Given the description of an element on the screen output the (x, y) to click on. 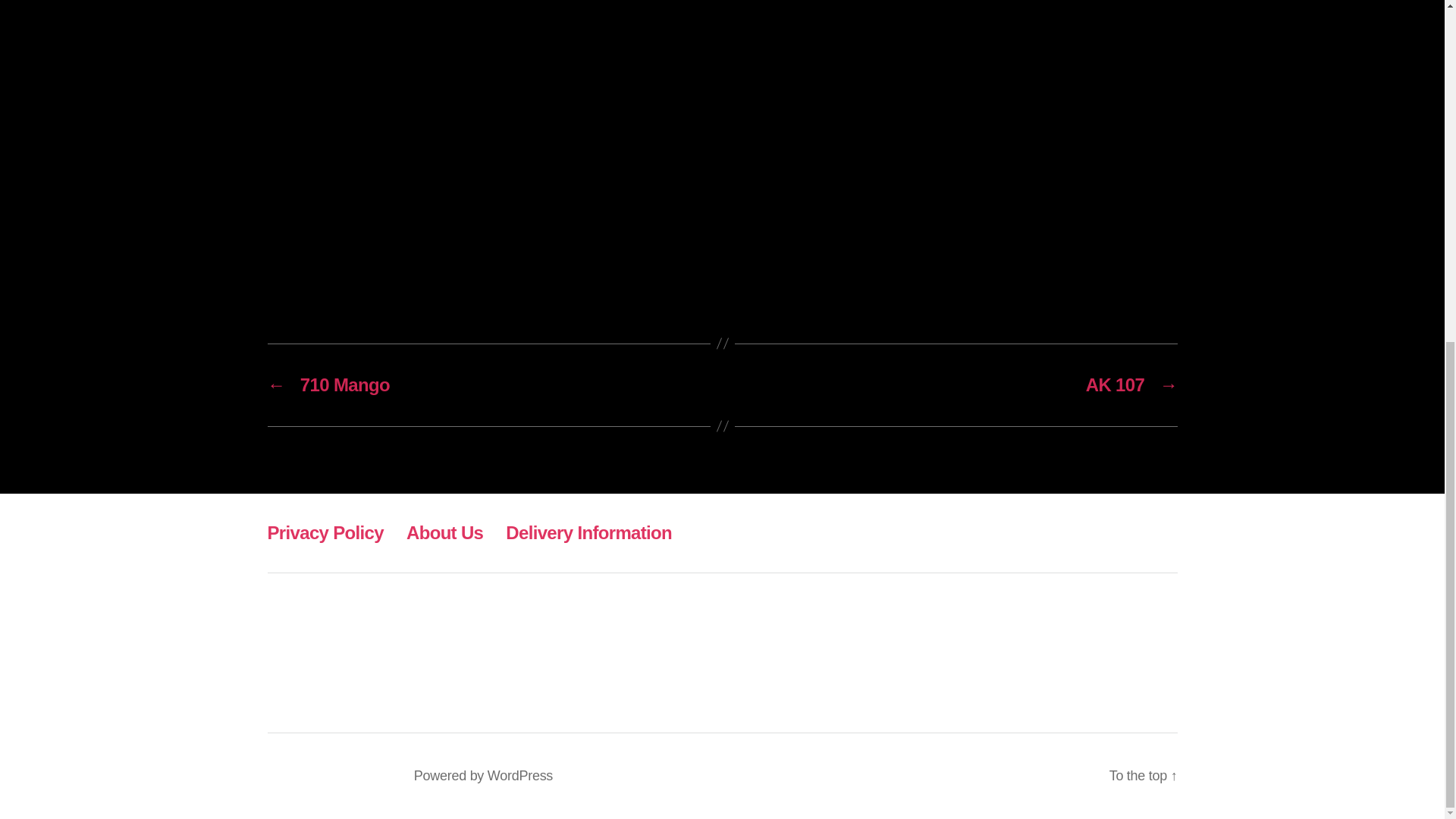
Privacy Policy (324, 532)
710 Genetics (355, 775)
Delivery Information (588, 532)
About Us (444, 532)
Powered by WordPress (483, 775)
